Given the description of an element on the screen output the (x, y) to click on. 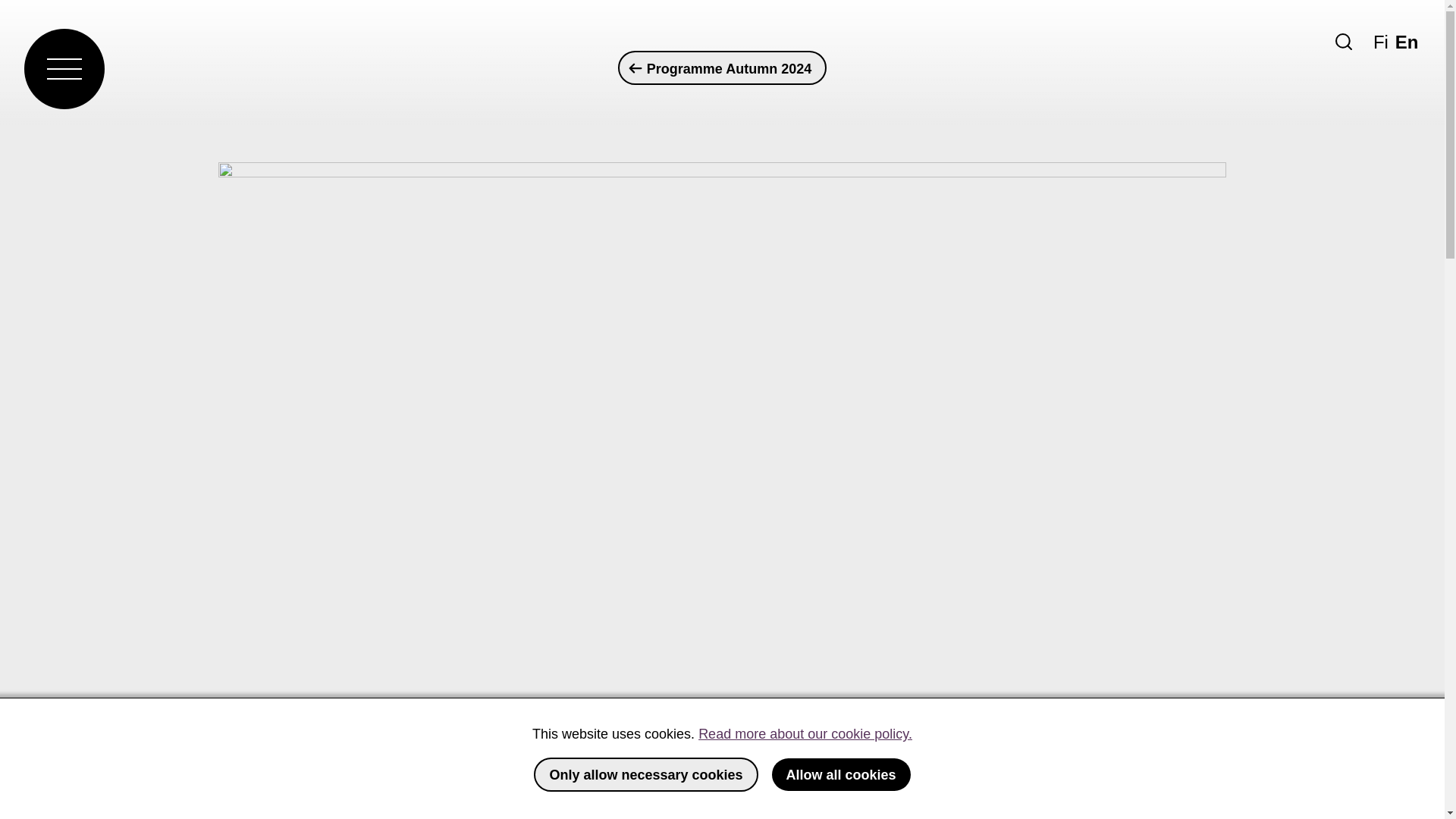
English (1406, 41)
Fi (1381, 41)
En (1406, 41)
Search (1343, 41)
Suomi (1381, 41)
